Given the description of an element on the screen output the (x, y) to click on. 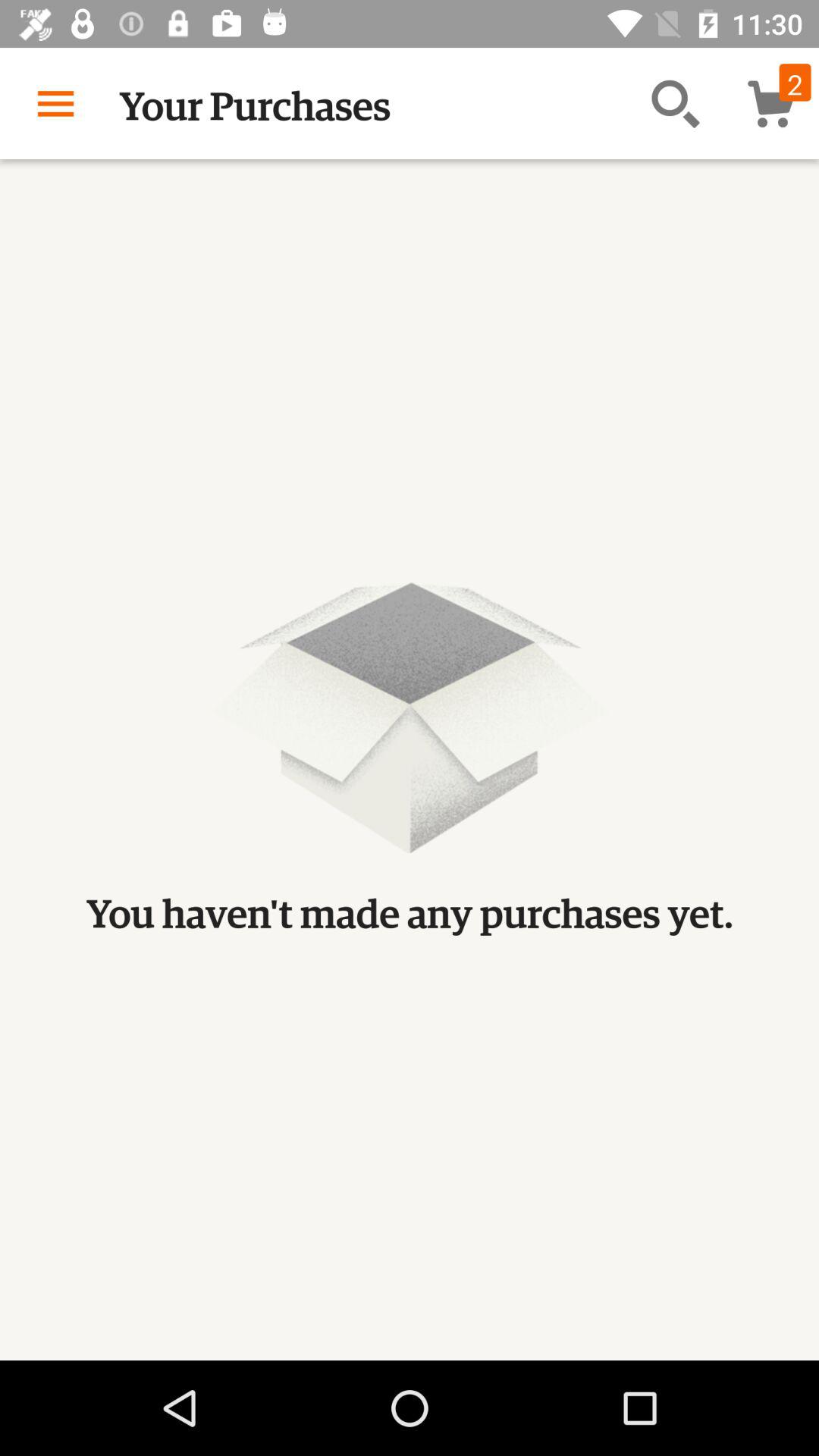
press icon to the left of the your purchases icon (55, 103)
